Given the description of an element on the screen output the (x, y) to click on. 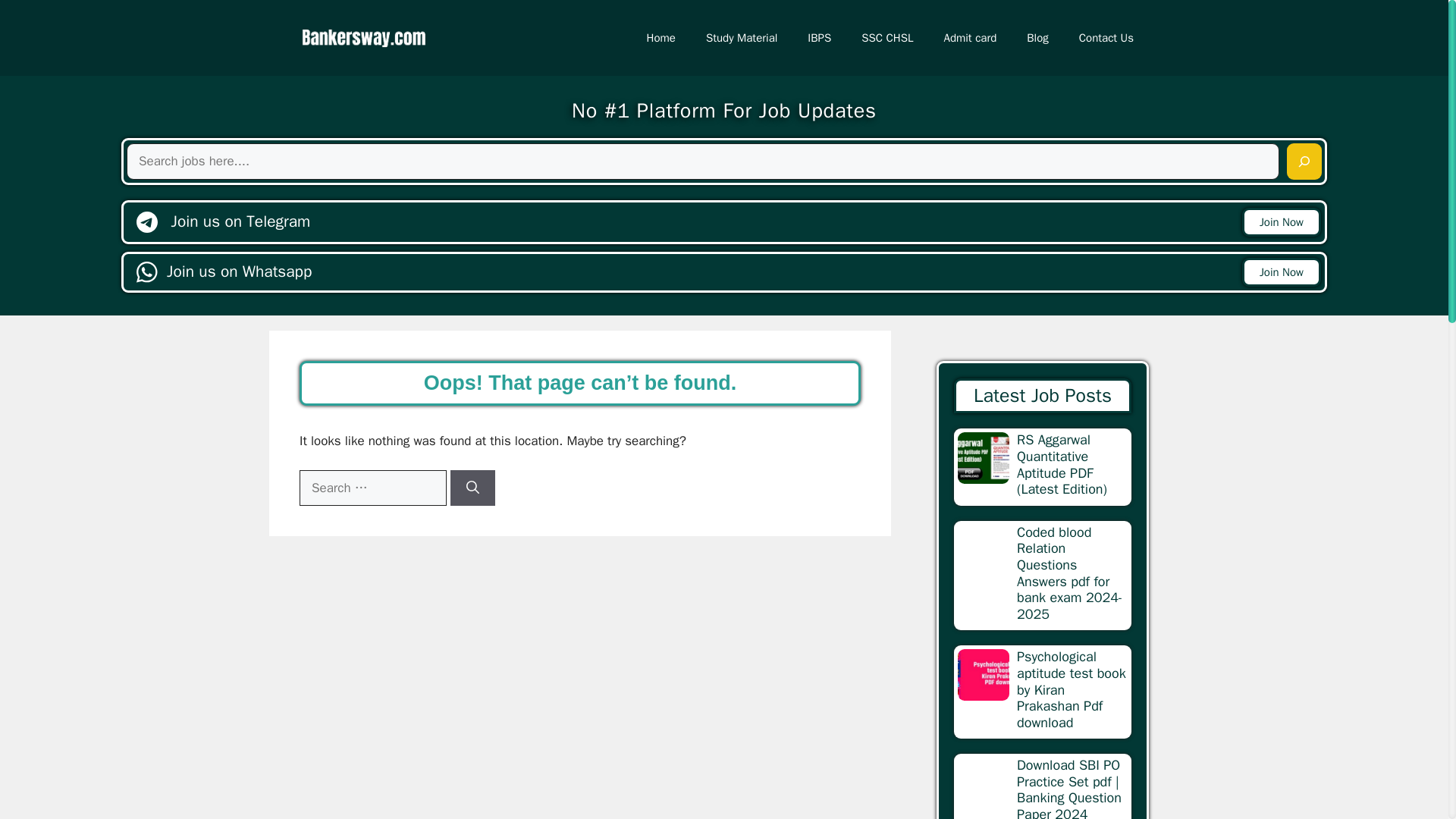
Blog (1036, 37)
Join Now (1280, 272)
Search for: (372, 488)
Home (660, 37)
Study Material (741, 37)
Join Now (1280, 222)
SSC CHSL (886, 37)
Admit card (969, 37)
IBPS (818, 37)
Contact Us (1106, 37)
